Given the description of an element on the screen output the (x, y) to click on. 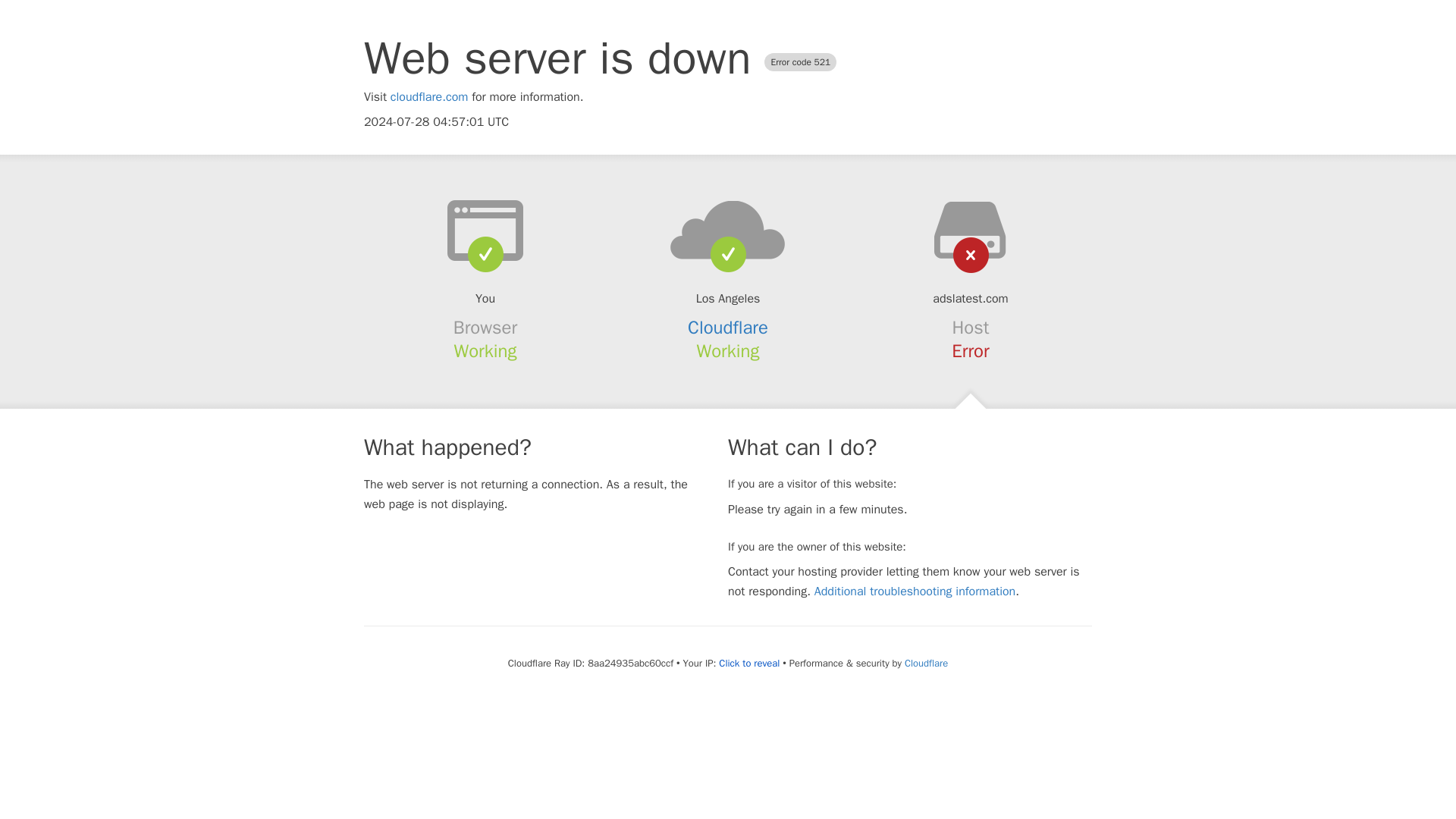
Cloudflare (925, 662)
Additional troubleshooting information (913, 590)
Cloudflare (727, 327)
cloudflare.com (429, 96)
Click to reveal (748, 663)
